Given the description of an element on the screen output the (x, y) to click on. 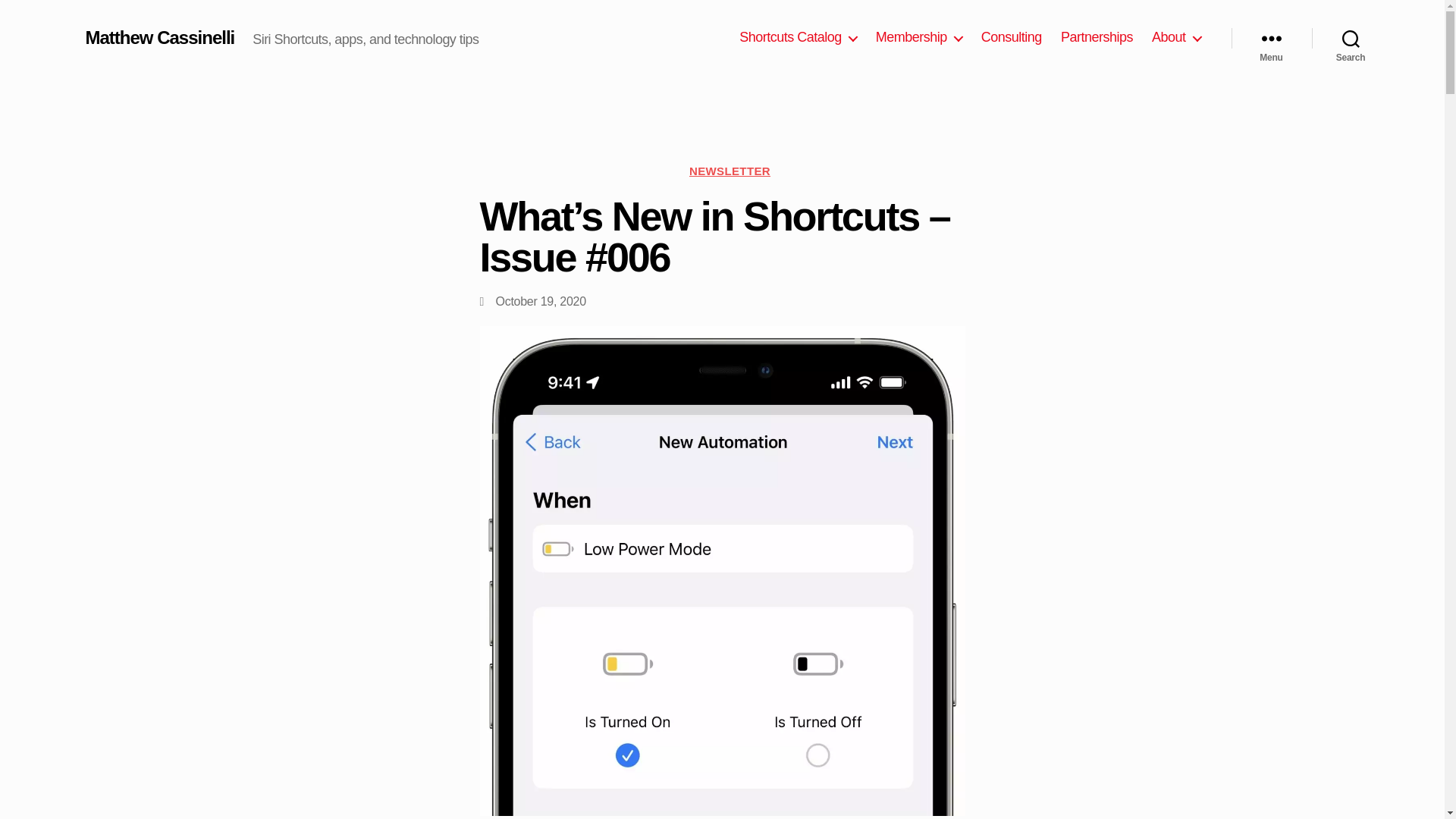
Consulting (1011, 37)
About (1176, 37)
Menu (1271, 37)
Shortcuts Catalog (798, 37)
Search (1350, 37)
Matthew Cassinelli (159, 37)
Partnerships (1096, 37)
Membership (919, 37)
